Given the description of an element on the screen output the (x, y) to click on. 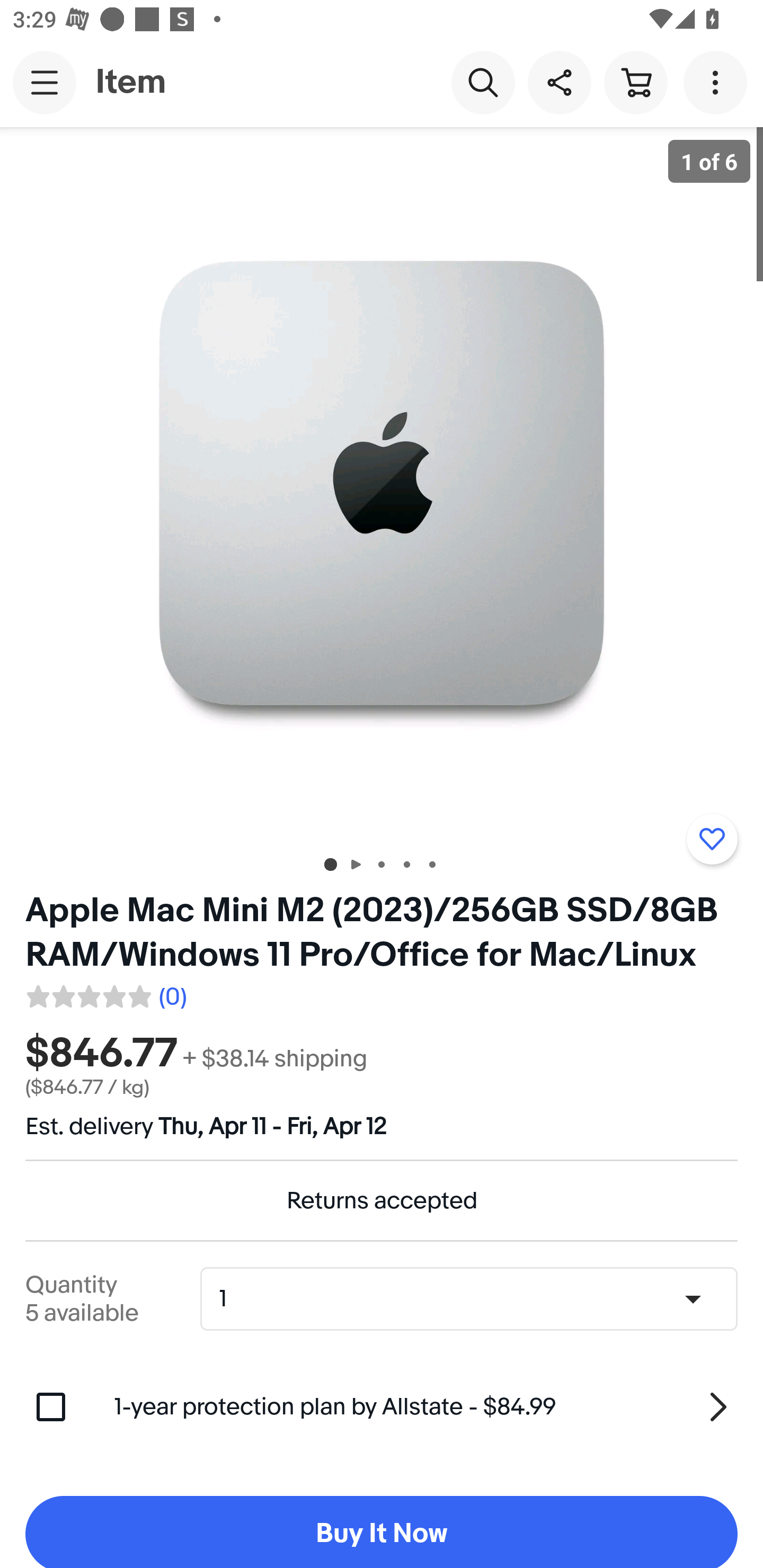
Main navigation, open (44, 82)
Search (482, 81)
Share this item (559, 81)
Cart button shopping cart (635, 81)
More options (718, 81)
Item image 1 of 6 (381, 482)
Add to watchlist (711, 838)
0 reviews. Average rating 0.0 out of five 0.0 (0) (105, 993)
Quantity,1,5 available 1 (474, 1298)
1-year protection plan by Allstate - $84.99 (425, 1406)
Buy It Now (381, 1531)
